Given the description of an element on the screen output the (x, y) to click on. 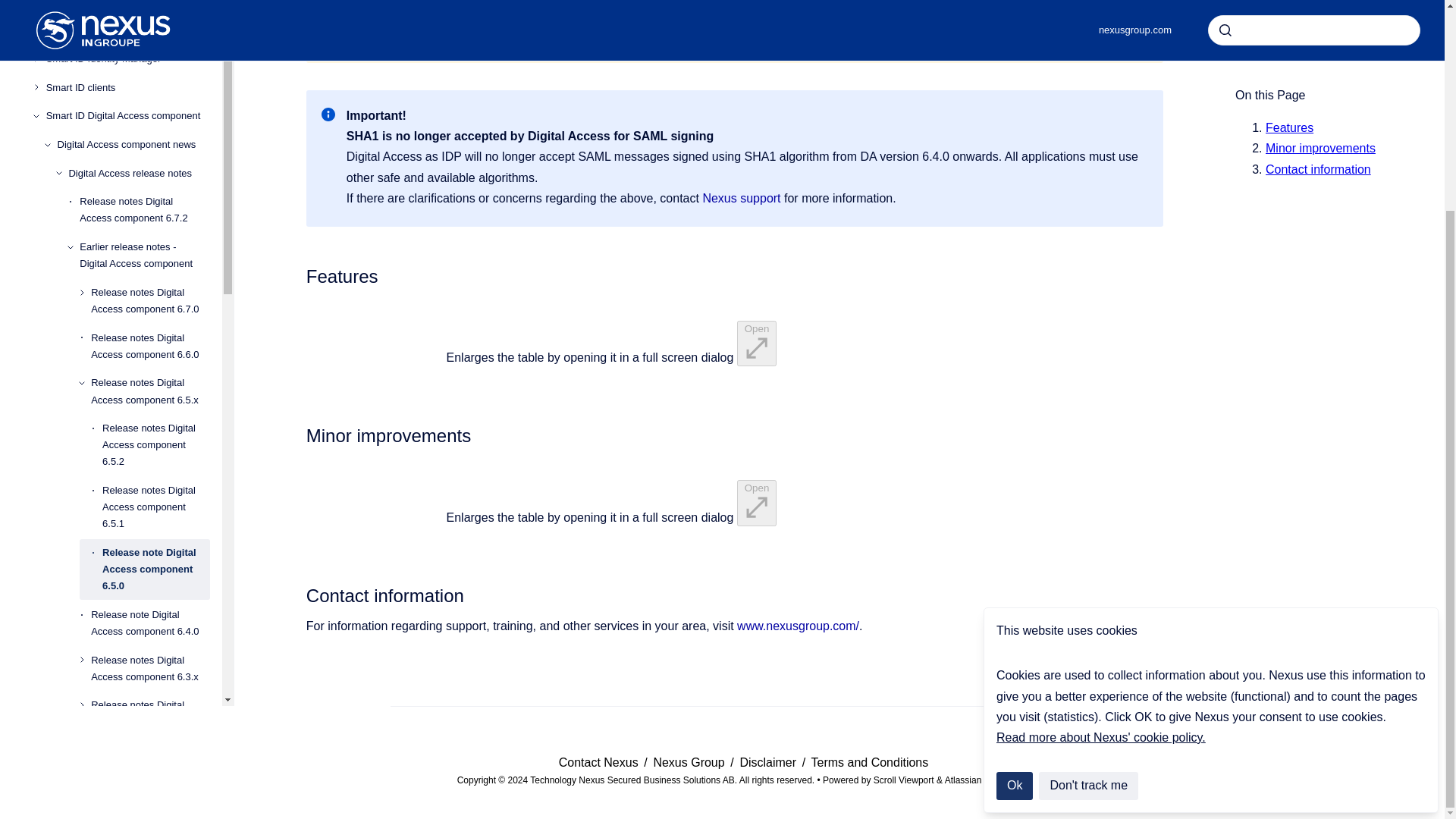
Release notes Digital Access component 6.3.x (149, 508)
Release note Digital Access component 6.5.0 (155, 409)
Release notes Digital Access component 6.5.x (149, 231)
Release notes Digital Access component 6.7.2 (144, 49)
Release notes Digital Access component 6.6.0 (149, 186)
Release note Digital Access component 6.4.0 (149, 463)
Earlier release notes - Digital Access component (144, 95)
Release notes Digital Access component 6.5.2 (155, 284)
Ok (1013, 511)
Digital Access release notes (138, 13)
Read more about Nexus' cookie policy. (1100, 463)
Release notes Digital Access component 6.2.x (149, 554)
Release notes Digital Access component 6.7.0 (149, 140)
Release notes Digital Access component 6.5.1 (155, 346)
Don't track me (1088, 511)
